Given the description of an element on the screen output the (x, y) to click on. 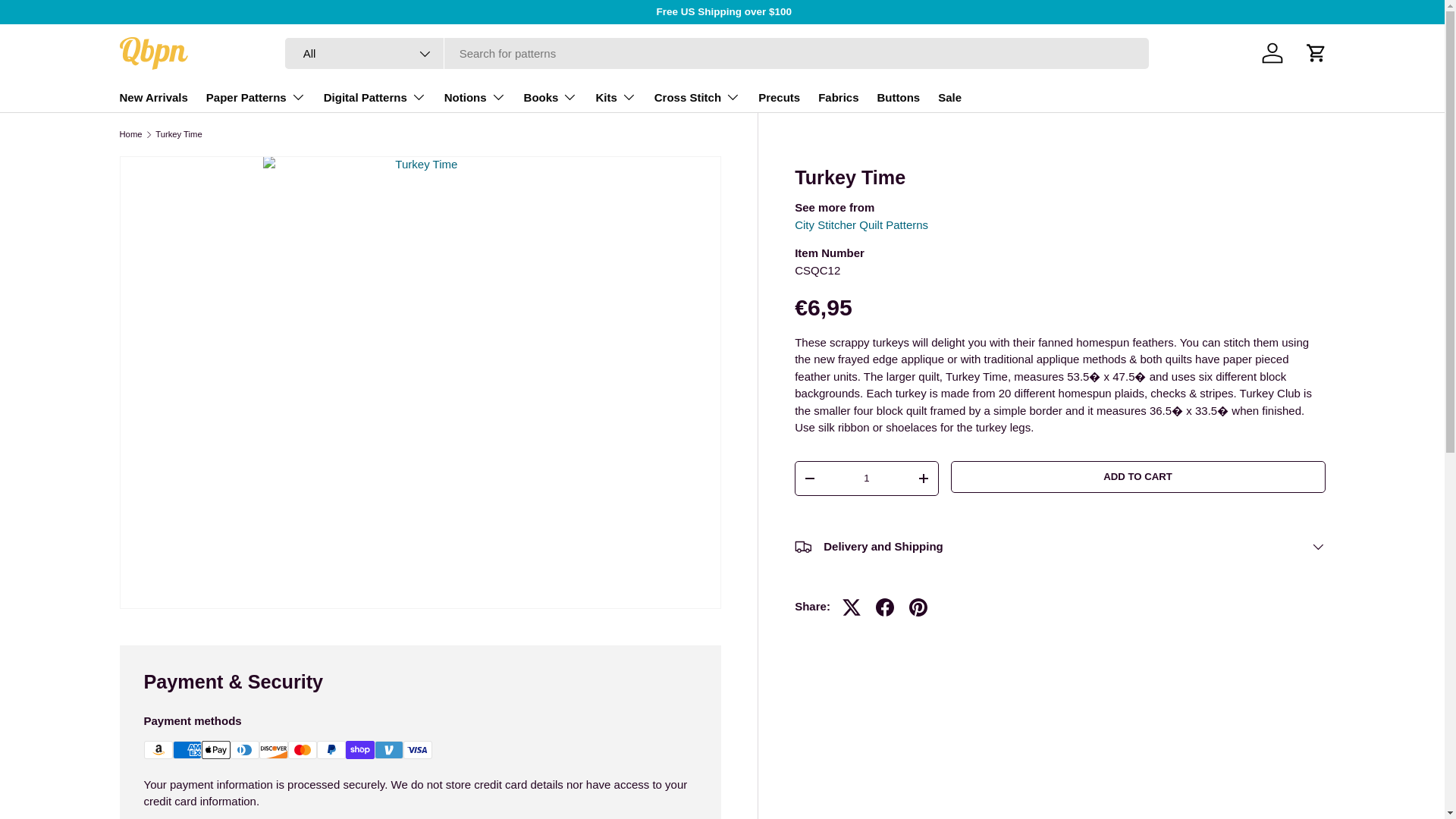
New Arrivals (153, 97)
Cart (1316, 52)
SKIP TO CONTENT (68, 21)
All (364, 52)
Log in (1271, 52)
Amazon (158, 750)
Discover (273, 750)
American Express (187, 750)
Paper Patterns (255, 96)
Pin on Pinterest (917, 607)
